Given the description of an element on the screen output the (x, y) to click on. 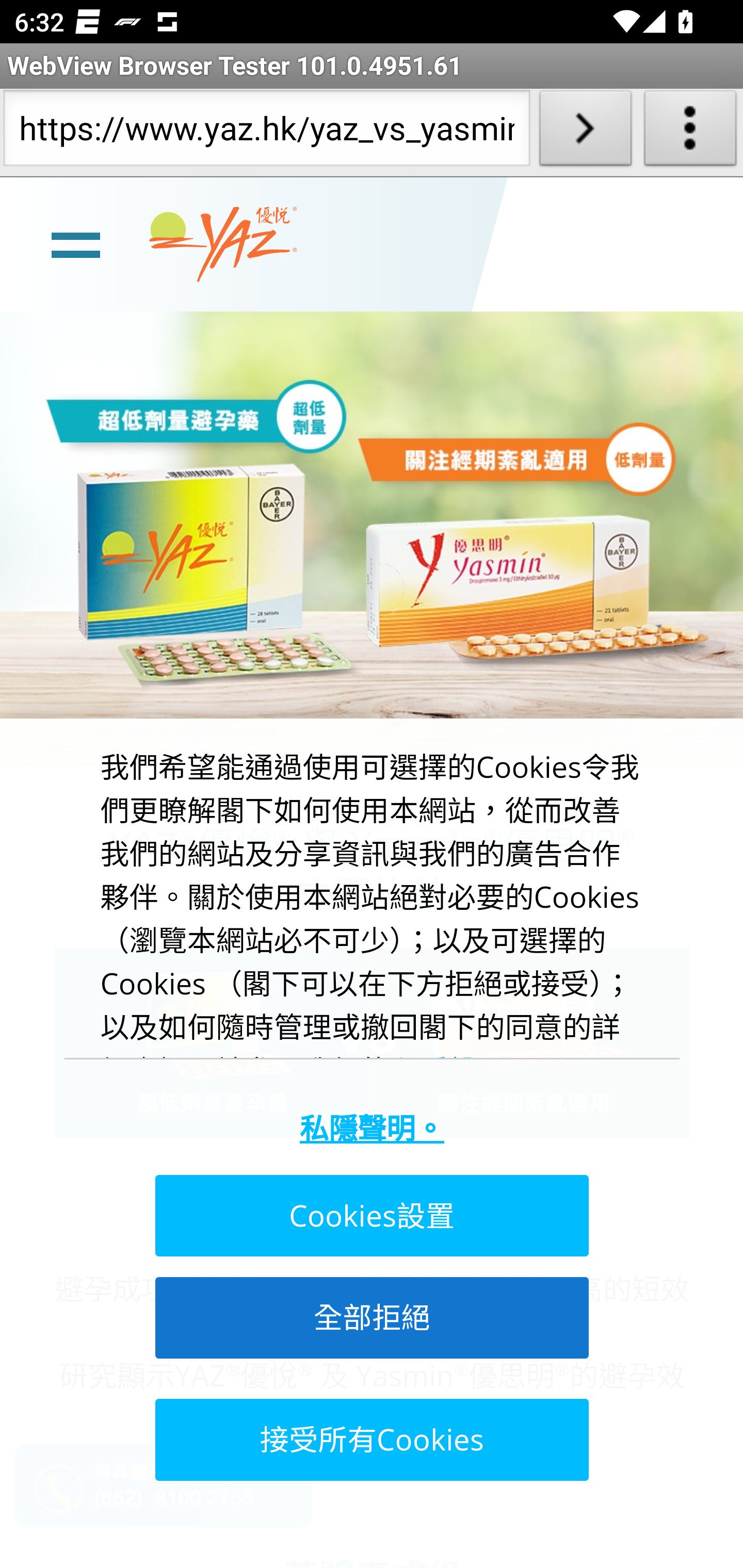
Load URL (585, 132)
About WebView (690, 132)
Skip to main content (1, 176)
www.yaz (222, 244)
line Toggle burger menu (75, 242)
Cookies設置 (370, 1215)
全部拒絕 (370, 1317)
接受所有Cookies (370, 1439)
 (636, 1480)
